Given the description of an element on the screen output the (x, y) to click on. 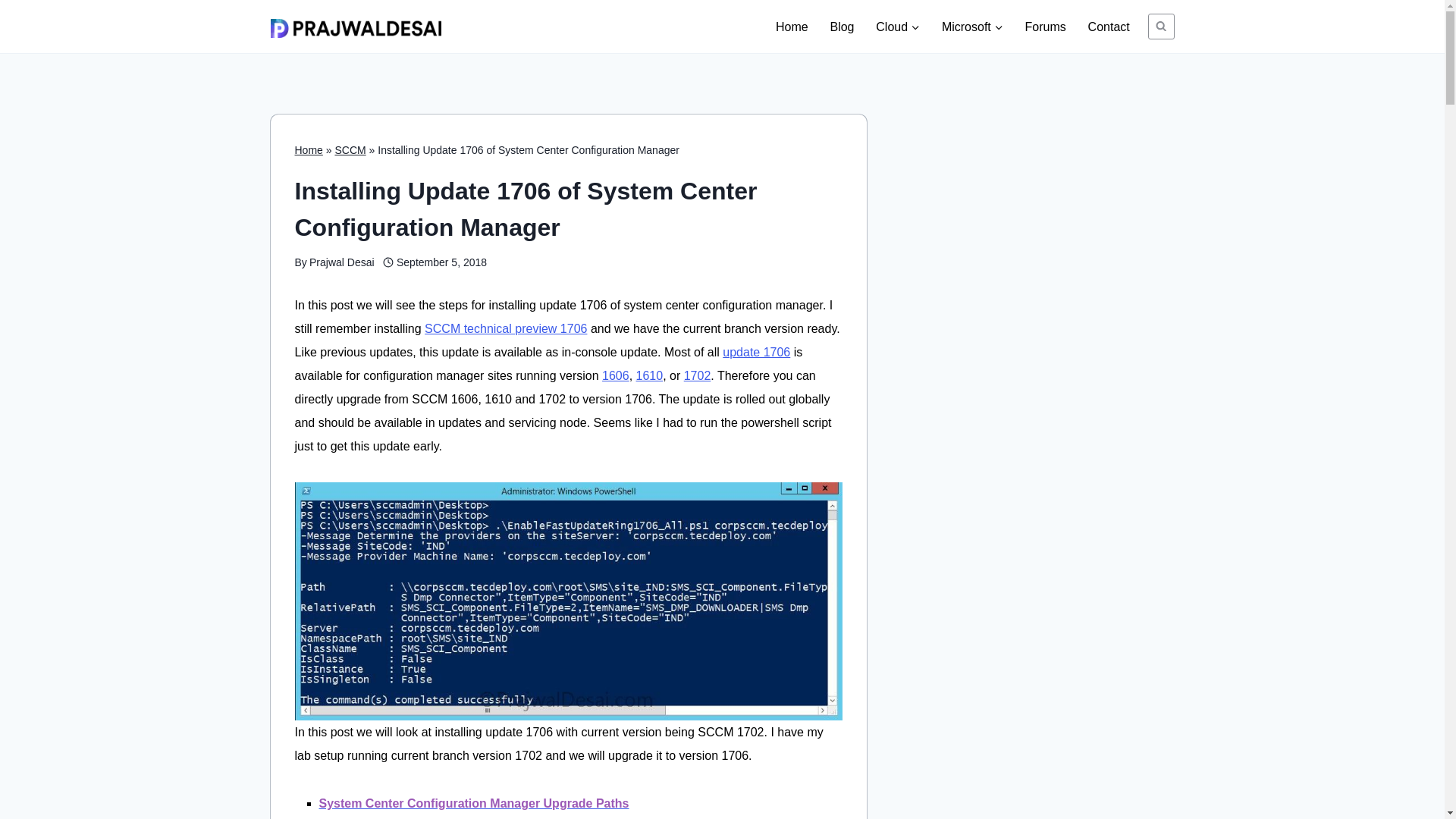
SCCM (349, 150)
Home (791, 26)
Home (307, 150)
Microsoft (971, 26)
Forums (1045, 26)
System Center Configuration Manager Upgrade Paths (473, 802)
Prajwal Desai (341, 262)
update 1706 (756, 351)
Contact (1108, 26)
1606 (615, 375)
